Given the description of an element on the screen output the (x, y) to click on. 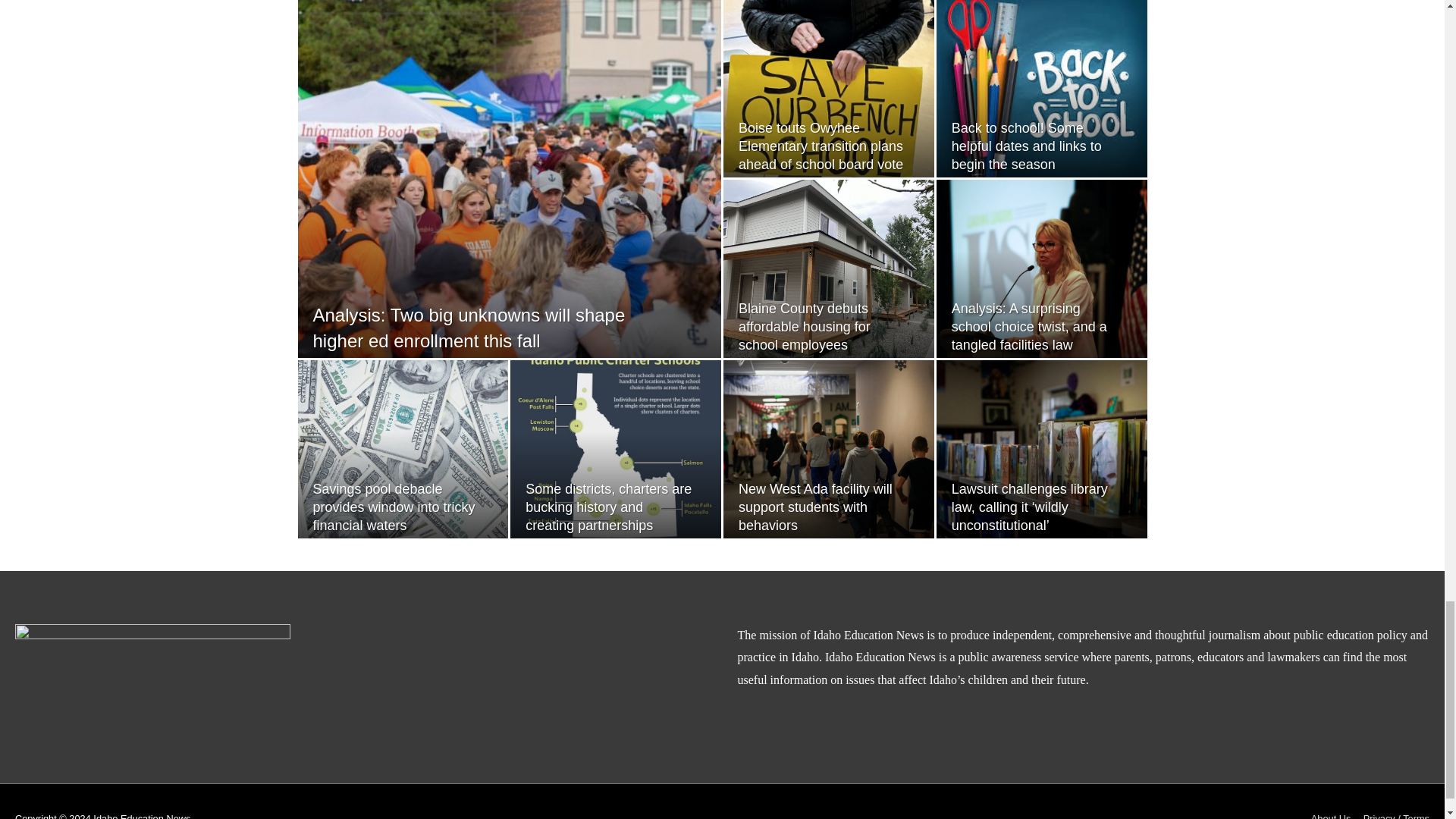
New West Ada facility will support students with behaviors (815, 506)
Blaine County debuts affordable housing for school employees (804, 326)
